Given the description of an element on the screen output the (x, y) to click on. 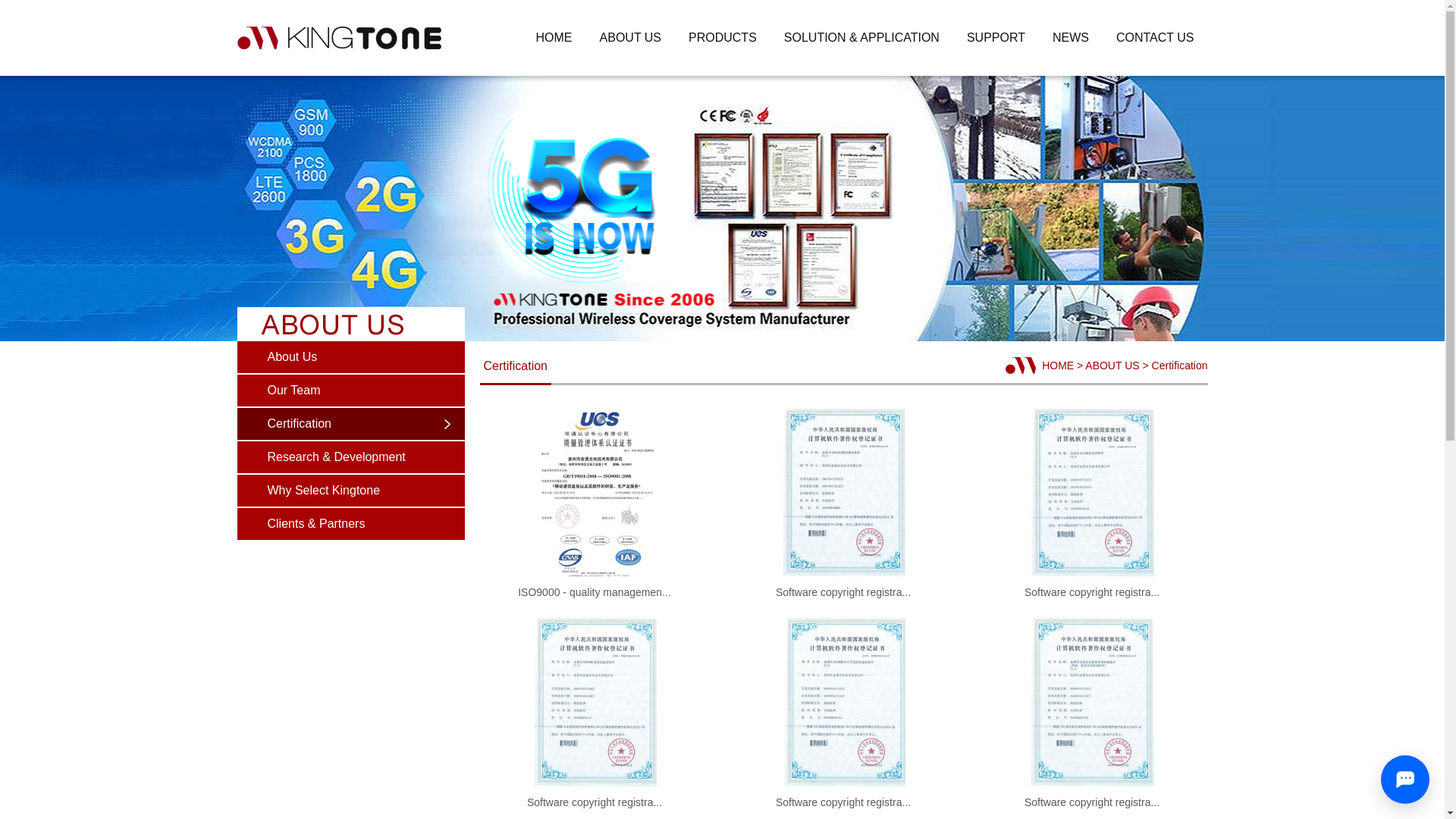
Software copyright registra... Element type: text (842, 796)
Clients & Partners Element type: text (350, 523)
Software copyright registra... Element type: text (594, 796)
Open chat window Element type: hover (1404, 779)
Our Team Element type: text (350, 390)
CONTACT US Element type: text (1155, 37)
Software copyright registra... Element type: text (1091, 586)
ABOUT US Element type: text (630, 37)
About Us Element type: text (350, 357)
ISO9000 - quality managemen... Element type: text (594, 586)
Certification Element type: text (350, 423)
Software copyright registra... Element type: text (1091, 796)
PRODUCTS Element type: text (722, 37)
SUPPORT Element type: text (995, 37)
Software copyright registra... Element type: text (842, 586)
NEWS Element type: text (1070, 37)
Research & Development Element type: text (350, 457)
HOME Element type: text (554, 37)
Why Select Kingtone Element type: text (350, 490)
SOLUTION & APPLICATION Element type: text (861, 37)
